Given the description of an element on the screen output the (x, y) to click on. 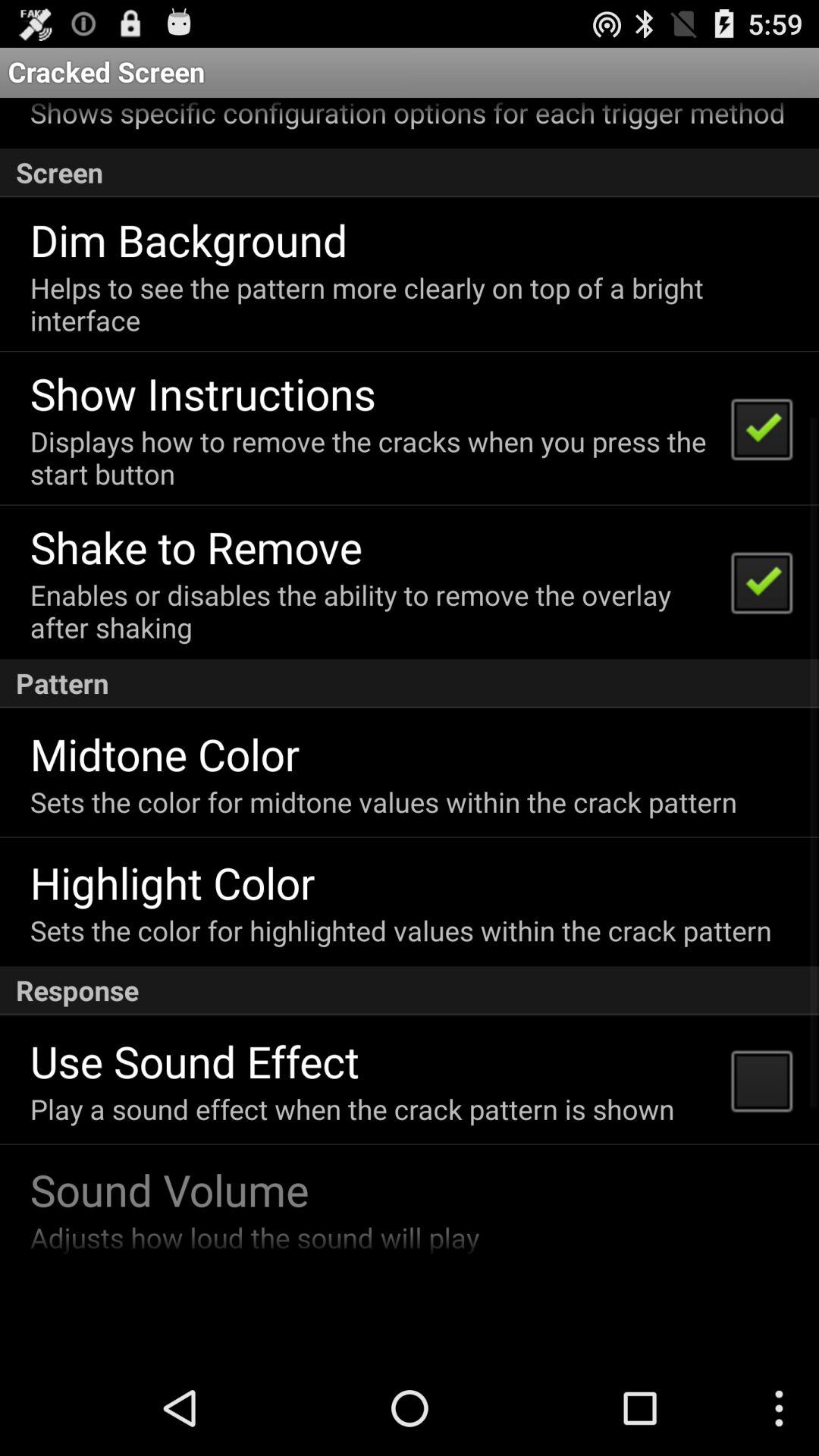
launch the item below screen icon (188, 239)
